Given the description of an element on the screen output the (x, y) to click on. 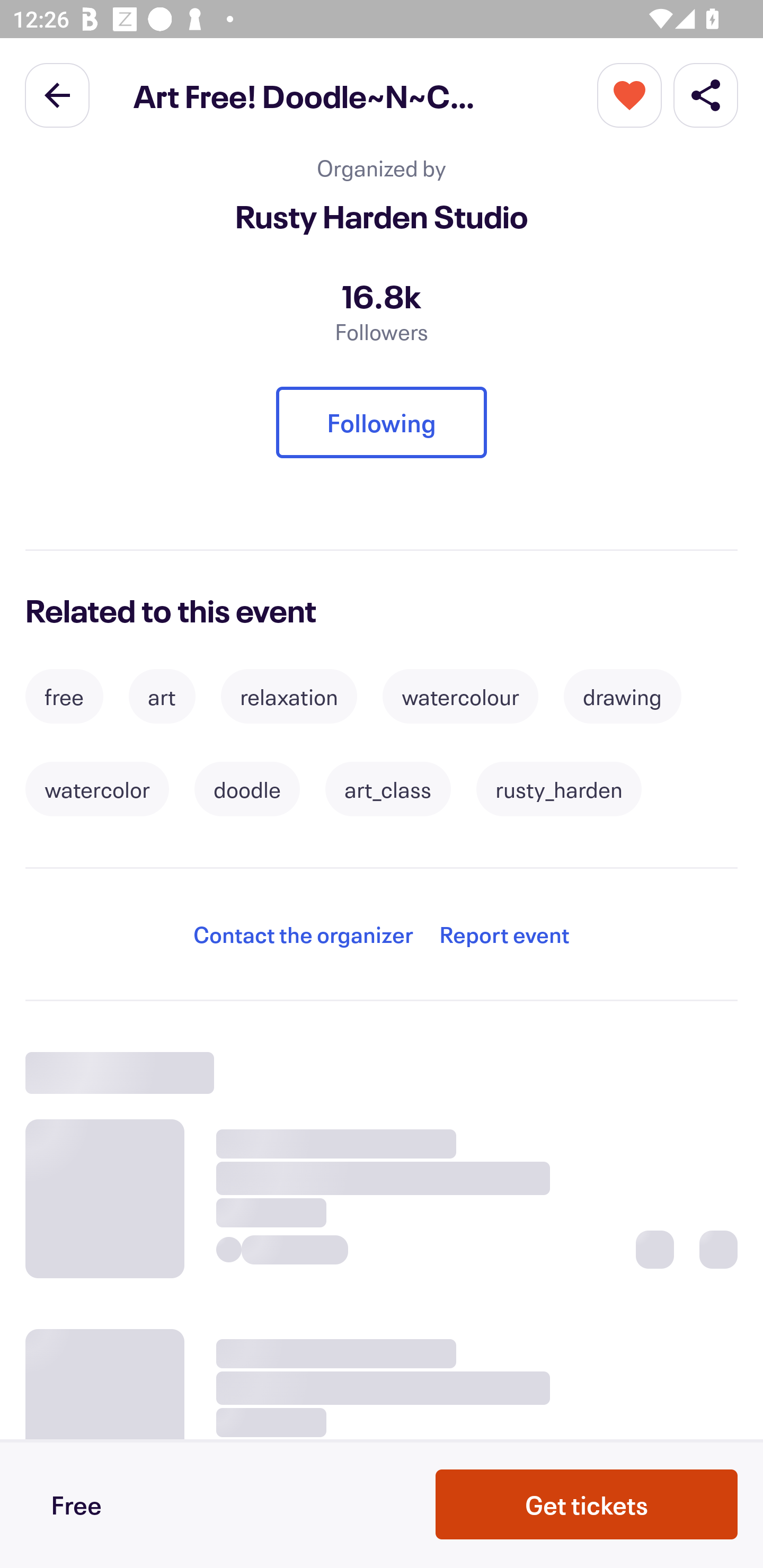
Back (57, 94)
More (629, 94)
Share (705, 94)
Rusty Harden Studio (381, 216)
Following (381, 422)
free (64, 696)
art (161, 696)
relaxation (289, 696)
watercolour (460, 696)
drawing (622, 696)
watercolor (97, 789)
doodle (246, 789)
art_class (387, 789)
rusty_harden (558, 789)
Contact the organizer (303, 934)
Report event (504, 934)
Get tickets (586, 1504)
